Given the description of an element on the screen output the (x, y) to click on. 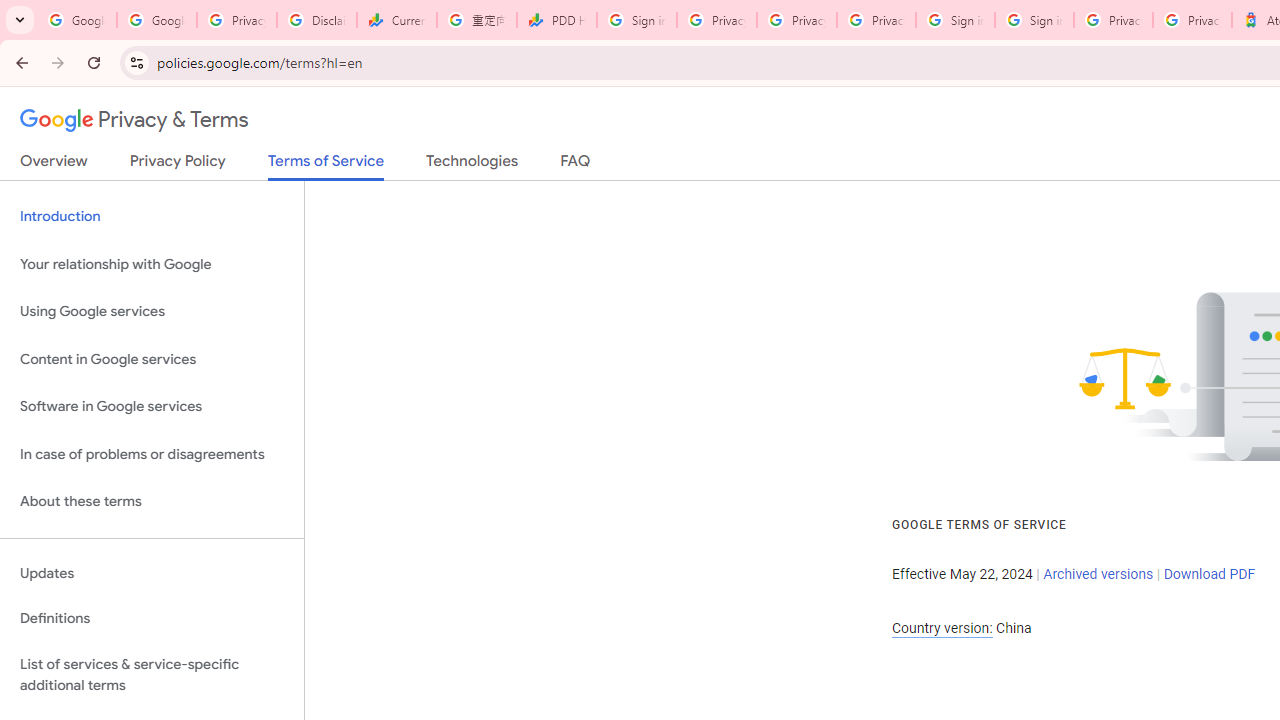
Privacy Checkup (796, 20)
Download PDF (1209, 574)
Content in Google services (152, 358)
Definitions (152, 619)
Privacy & Terms (134, 120)
Currencies - Google Finance (396, 20)
Archived versions (1098, 574)
Software in Google services (152, 407)
Sign in - Google Accounts (1033, 20)
